Given the description of an element on the screen output the (x, y) to click on. 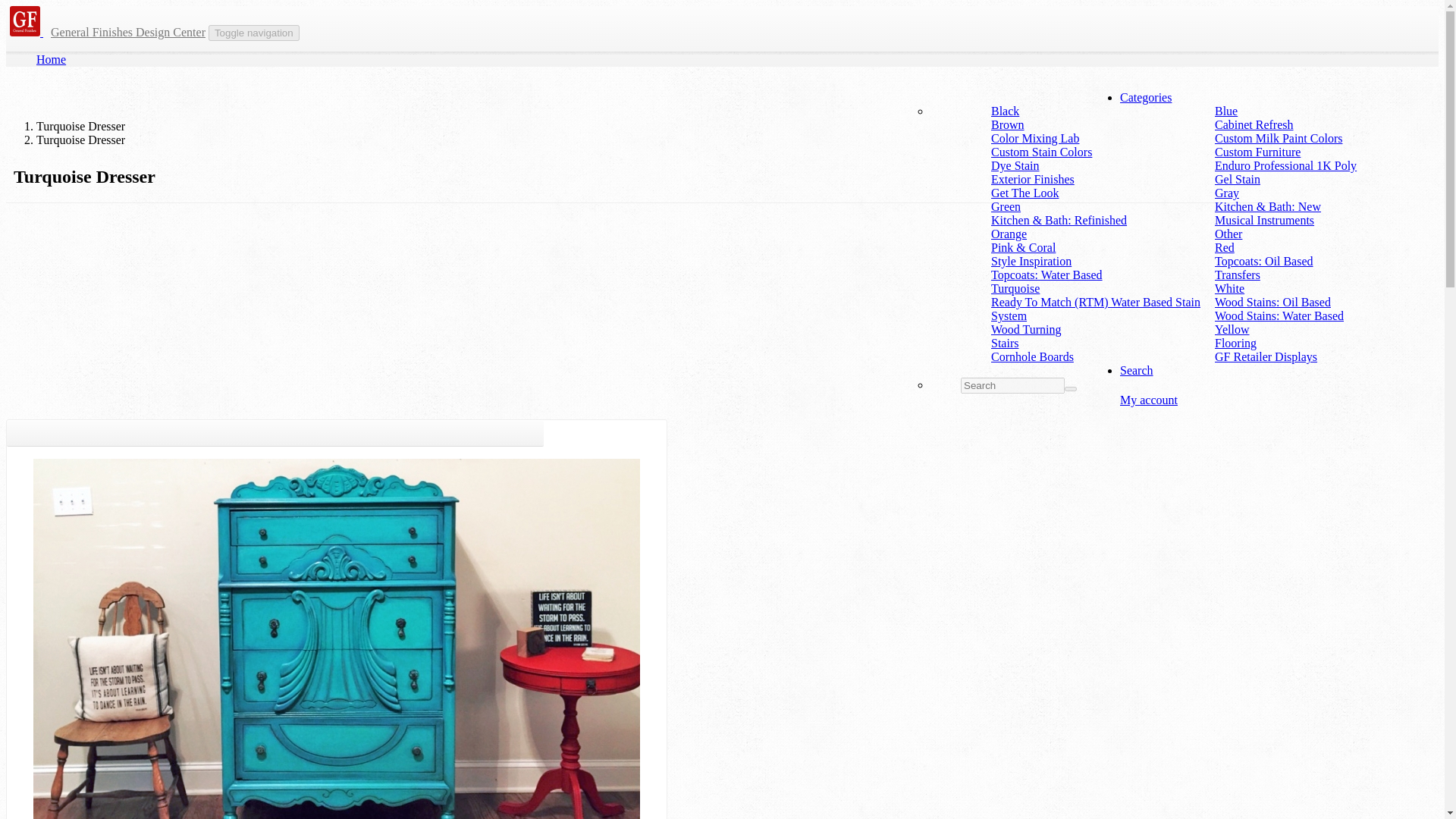
Exterior Finishes (1032, 178)
Stairs (1004, 342)
Yellow (1231, 328)
General Finishes Design Center (127, 31)
Custom Mixed Gel Stain Colors (1041, 151)
Gel Stain (1237, 178)
Custom Colors on Furniture (1278, 137)
Brown (1008, 124)
Home (50, 59)
Gray (1226, 192)
Dye Stain (1015, 164)
Cabinet Refresh (1254, 124)
Blue (1225, 110)
Get The Look (1024, 192)
Custom Milk Paint Colors (1278, 137)
